Given the description of an element on the screen output the (x, y) to click on. 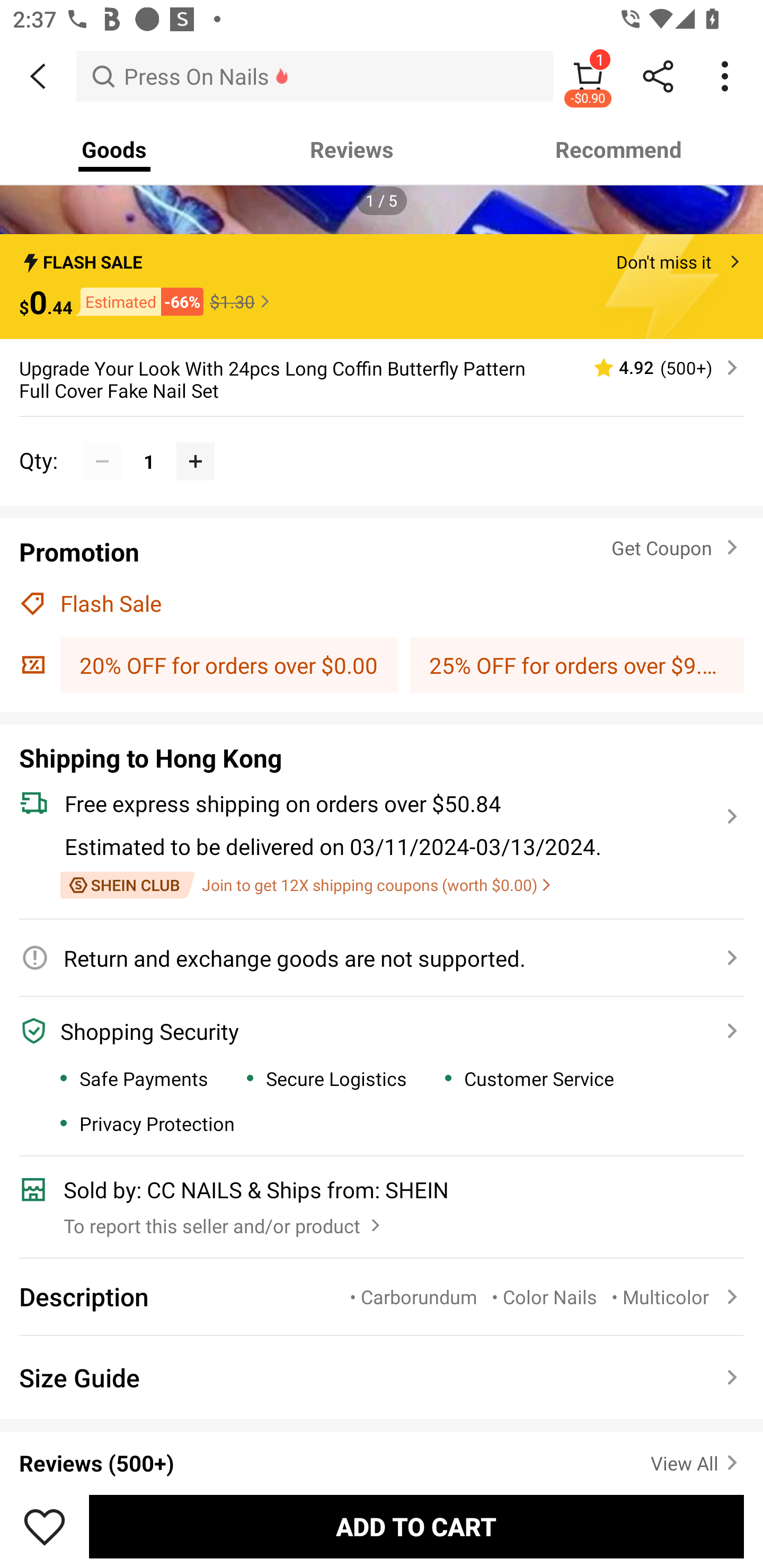
BACK (38, 75)
1 -$0.90 (588, 75)
Press On Nails (314, 75)
Goods (114, 149)
Reviews (351, 149)
Recommend (618, 149)
1 / 5 (381, 200)
FLASH SALE Don't miss it (381, 256)
Estimated -66% (137, 300)
$1.30 (241, 301)
4.92 (500‎+) (658, 367)
Qty: 1 (381, 440)
Join to get 12X shipping coupons (worth $0.00) (305, 885)
Return and exchange goods are not supported. (370, 957)
To report this seller and/or product   (224, 1221)
Size Guide (381, 1377)
Reviews‎ (500‎+) View All (381, 1451)
ADD TO CART (416, 1526)
Save (44, 1526)
